Given the description of an element on the screen output the (x, y) to click on. 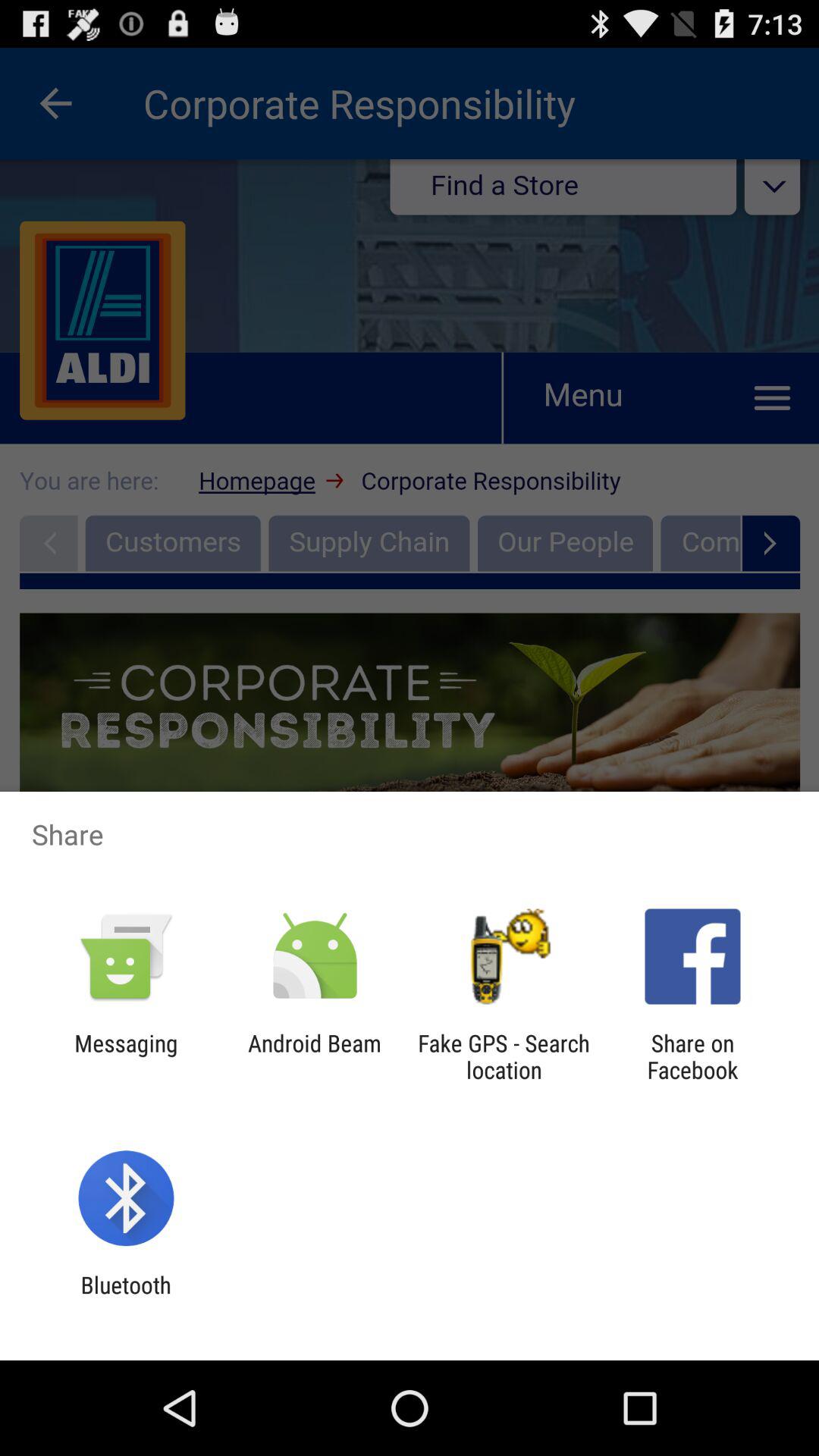
tap the bluetooth item (125, 1298)
